Given the description of an element on the screen output the (x, y) to click on. 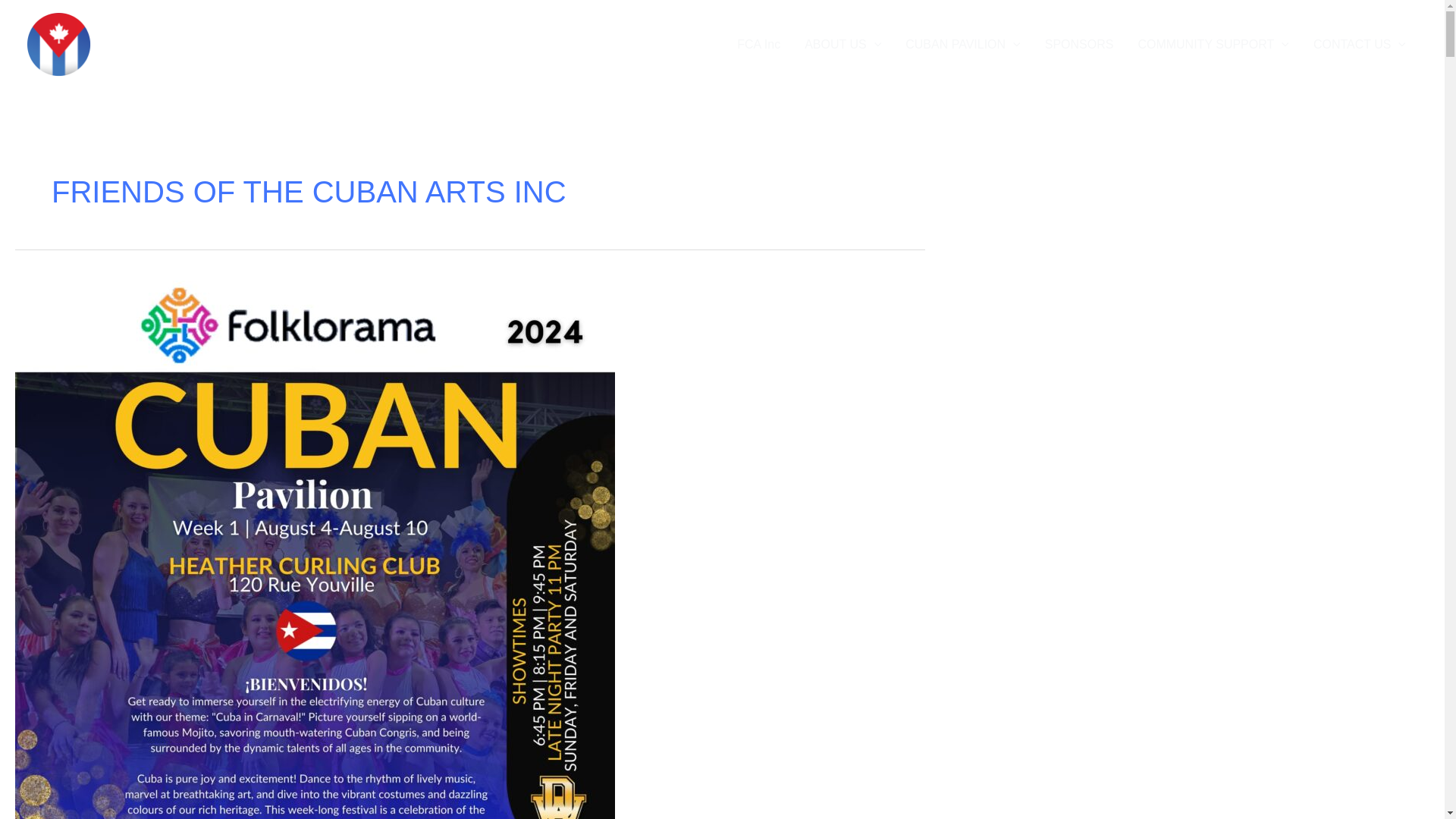
CUBAN PAVILION (962, 44)
COMMUNITY SUPPORT (1212, 44)
ABOUT US (842, 44)
FCA Inc (758, 44)
SPONSORS (1078, 44)
CONTACT US (1359, 44)
